Given the description of an element on the screen output the (x, y) to click on. 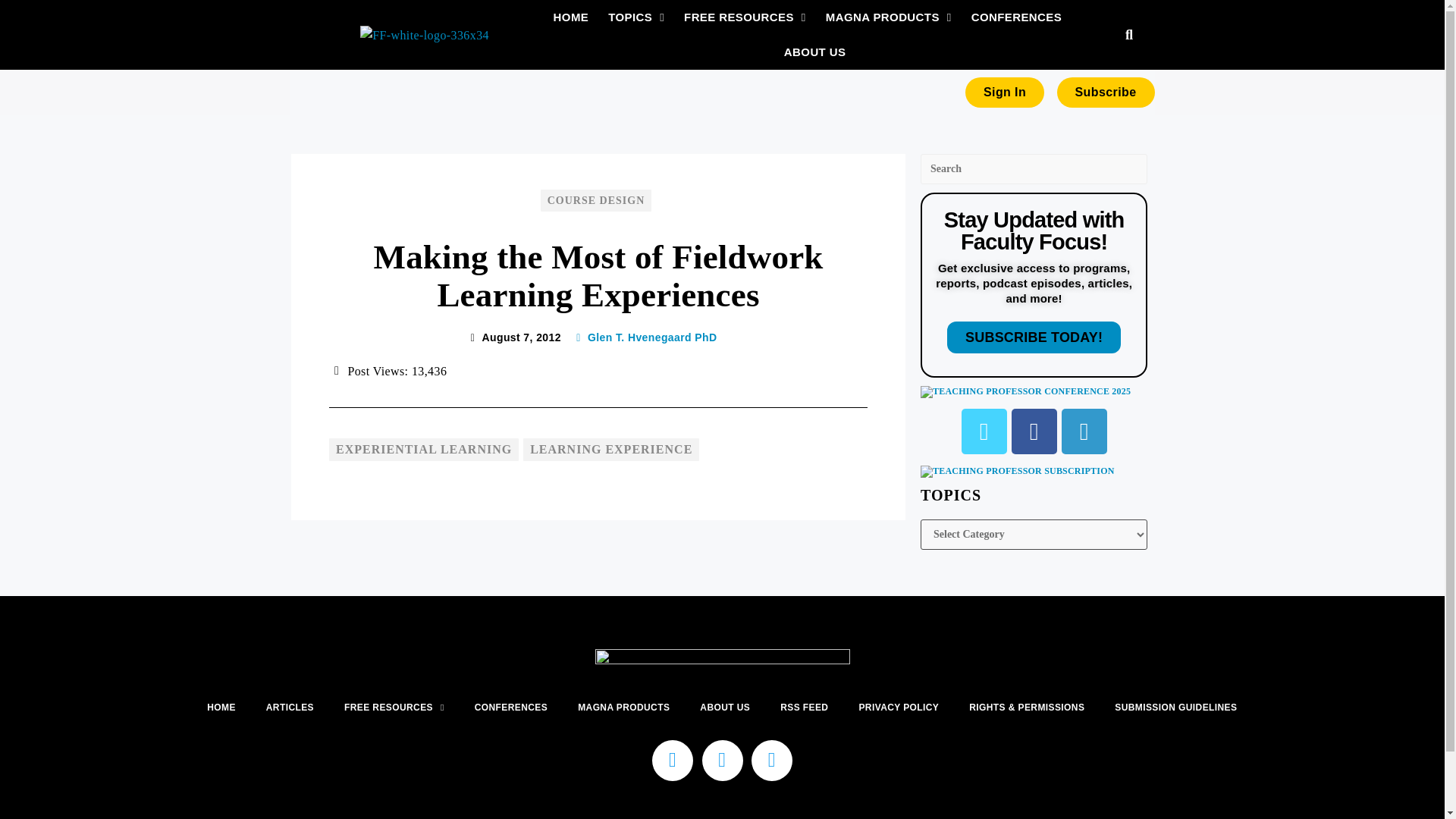
FREE RESOURCES (744, 17)
CONFERENCES (1016, 17)
ABOUT US (814, 52)
HOME (571, 17)
TOPICS (635, 17)
MAGNA PRODUCTS (888, 17)
